Given the description of an element on the screen output the (x, y) to click on. 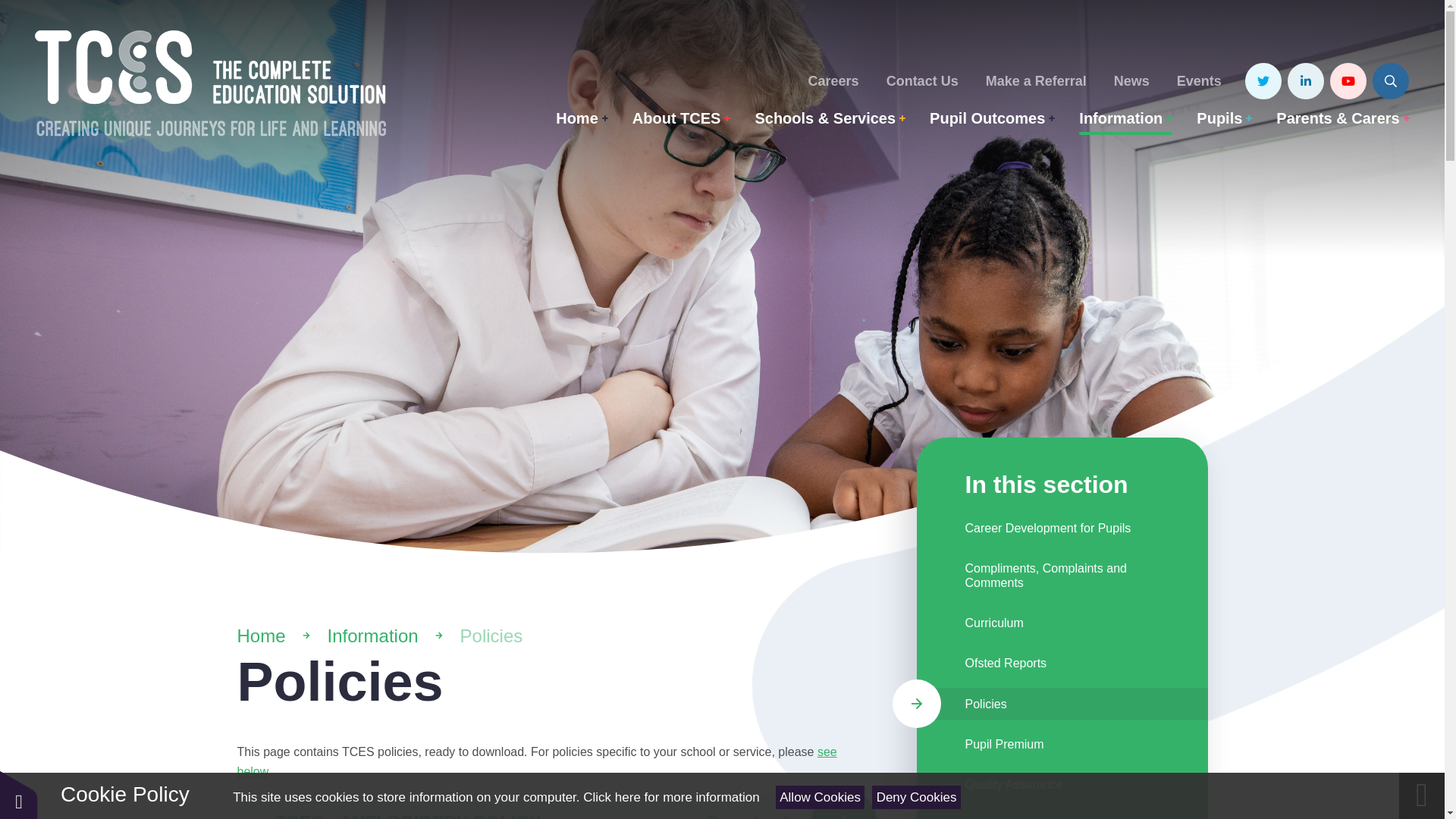
Home (582, 117)
Deny Cookies (915, 797)
Pupil Outcomes (992, 117)
About TCES (680, 117)
See cookie policy (670, 797)
Allow Cookies (820, 797)
